Given the description of an element on the screen output the (x, y) to click on. 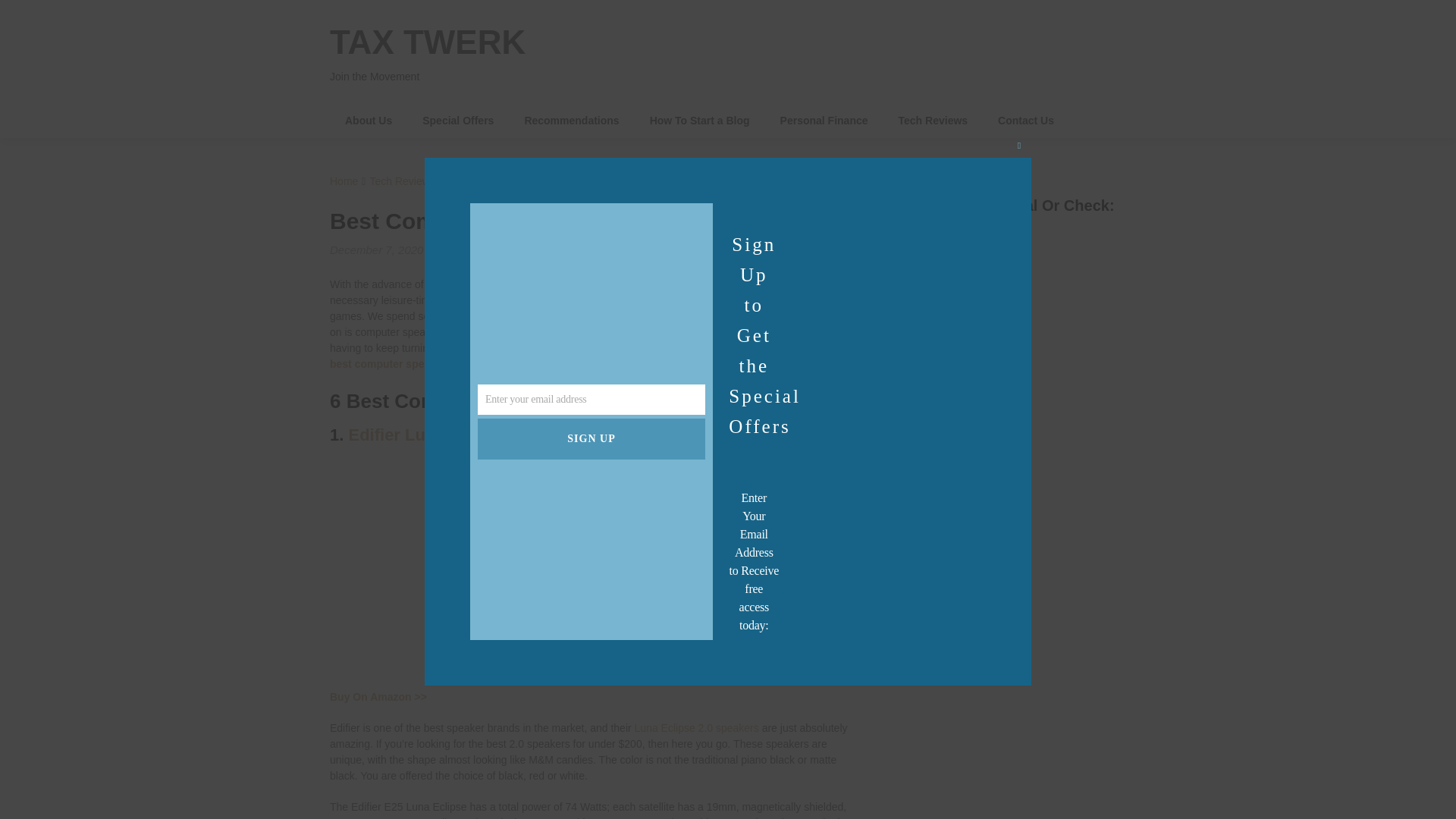
Home (344, 181)
Get Paid By PayPal Or Check: (997, 331)
Tech Reviews (401, 181)
How To Start a Blog (699, 121)
About Us (368, 121)
Personal Finance (824, 121)
Contact Us (1025, 121)
Recommendations (570, 121)
Tech Reviews (933, 121)
TAX TWERK (427, 41)
